Given the description of an element on the screen output the (x, y) to click on. 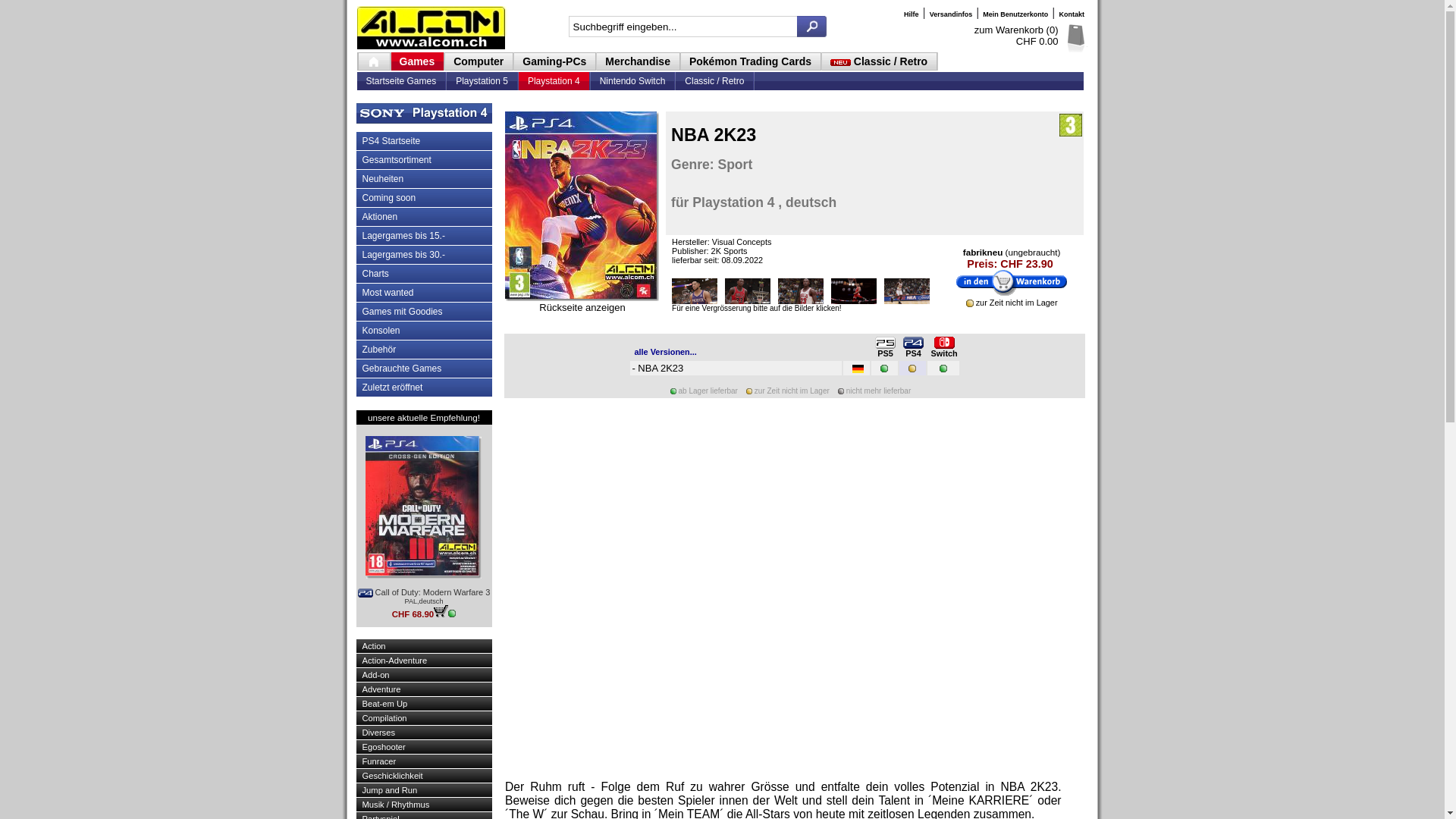
NBA 2K23 (Playstation 4) Element type: hover (580, 297)
einkaufen Element type: hover (1011, 282)
Gebrauchte Games Element type: text (424, 368)
Gesamtsortiment Element type: text (424, 159)
Games mit Goodies Element type: text (424, 311)
Aktionen Element type: text (424, 216)
Compilation Element type: text (424, 717)
ALCOM Electronics AG - www.alcom.ch Element type: hover (432, 28)
Jump and Run Element type: text (424, 790)
Startseite Games Element type: text (400, 81)
auch auf Playstation 4 Element type: hover (913, 342)
NBA 2K23 (Playstation 4) Element type: hover (580, 204)
zur Zeit nicht im Lager Element type: hover (749, 391)
Lagergames bis 15.- Element type: text (424, 235)
Computer Element type: text (478, 61)
zum Warenkorb (0)
CHF 0.00 Element type: text (1016, 35)
Egoshooter Element type: text (424, 746)
Classic / Retro Element type: text (714, 81)
ab Lager lieferbar Element type: hover (451, 613)
Konsolen Element type: text (424, 330)
Neuheiten Element type: text (424, 178)
nicht mehr lieferbar Element type: hover (840, 391)
deutsch Element type: hover (857, 368)
 Call of Duty: Modern Warfare 3
PAL,deutsch
CHF 68.90 Element type: text (424, 525)
Hilfe Element type: text (911, 14)
NBA 2K23 (Playstation 4) Element type: hover (906, 290)
Gaming-PCs Element type: text (554, 61)
NBA 2K23 (Playstation 4) Element type: hover (853, 290)
NBA 2K23 (Playstation 4) Element type: hover (694, 290)
NBA 2K23 (Playstation 4) Element type: hover (906, 291)
Funracer Element type: text (424, 761)
NBA 2K23 (Playstation 4) Element type: hover (747, 290)
Home Element type: hover (372, 61)
ab Lager lieferbar Element type: hover (673, 391)
Classic / Retro Element type: text (879, 61)
NBA 2K23 (Playstation 4) Element type: hover (800, 291)
Playstation 4 Element type: text (553, 81)
Charts Element type: text (424, 273)
Mein Benutzerkonto Element type: text (1015, 14)
Diverses Element type: text (424, 732)
- NBA 2K23 Element type: text (658, 367)
Lagergames bis 30.- Element type: text (424, 254)
Add-on Element type: text (424, 674)
auch auf Switch Element type: hover (944, 342)
Beat-em Up Element type: text (424, 703)
Kontakt  Element type: text (1072, 14)
Action Element type: text (424, 645)
NBA 2K23 (Playstation 4) Element type: hover (580, 297)
Playstation 5 Element type: text (481, 81)
Nintendo Switch Element type: text (632, 81)
NBA 2K23 (Playstation 4) Element type: hover (747, 291)
Geschicklichkeit Element type: text (424, 775)
Action-Adventure Element type: text (424, 660)
Versandinfos Element type: text (950, 14)
in den Warenkorb Element type: hover (440, 611)
NBA 2K23 (Playstation 4) Element type: hover (853, 291)
Coming soon Element type: text (424, 197)
Merchandise Element type: text (637, 61)
NBA 2K23 (Playstation 4) Element type: hover (580, 204)
NBA 2K23 (Playstation 4) Element type: hover (694, 291)
unsere aktuelle Empfehlung! Element type: text (423, 417)
Adventure Element type: text (424, 689)
NBA 2K23 (Playstation 4) Element type: hover (581, 297)
NBA 2K23 (Playstation 4) Element type: hover (800, 290)
auch auf Playstation 5 Element type: hover (885, 342)
Games Element type: text (417, 61)
Musik / Rhythmus Element type: text (424, 804)
Most wanted Element type: text (424, 292)
PS4 Startseite Element type: text (424, 140)
NBA 2K23 (Playstation 4) Element type: hover (579, 297)
zur Zeit nicht im Lager Element type: hover (969, 303)
ab 3 Jahren Element type: hover (1070, 124)
